Given the description of an element on the screen output the (x, y) to click on. 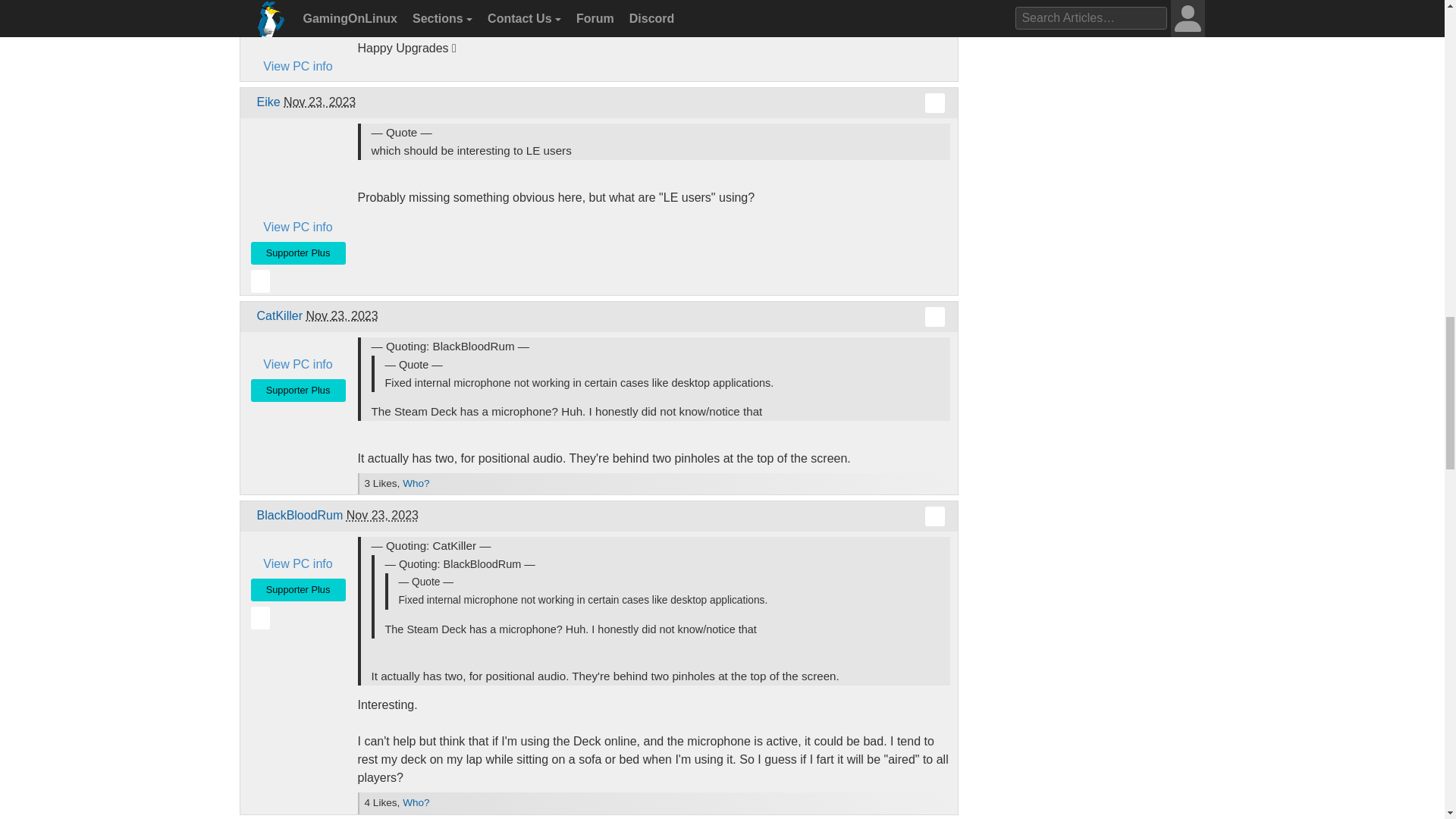
Link to this comment (934, 18)
Link to this comment (934, 103)
Link to this comment (934, 516)
Link to this comment (934, 316)
